Given the description of an element on the screen output the (x, y) to click on. 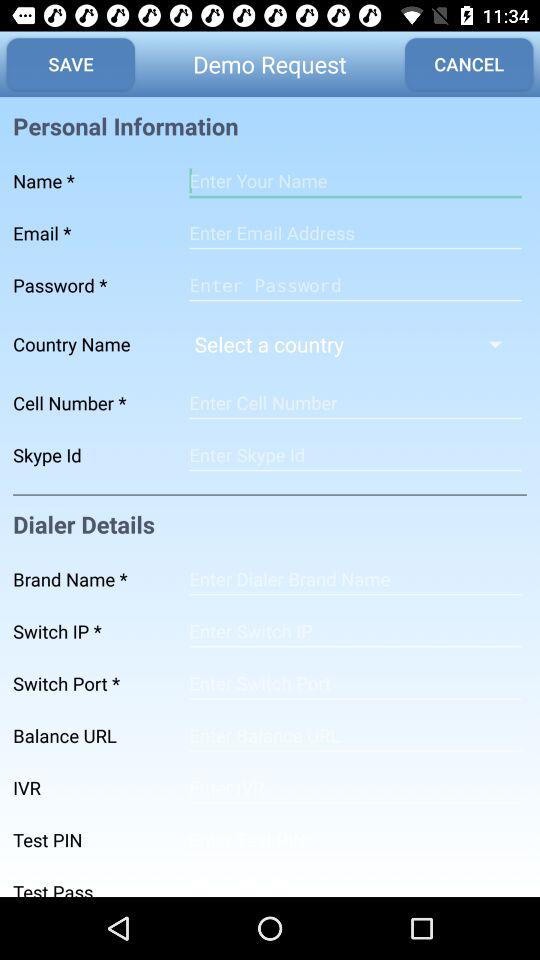
blank page (355, 631)
